Given the description of an element on the screen output the (x, y) to click on. 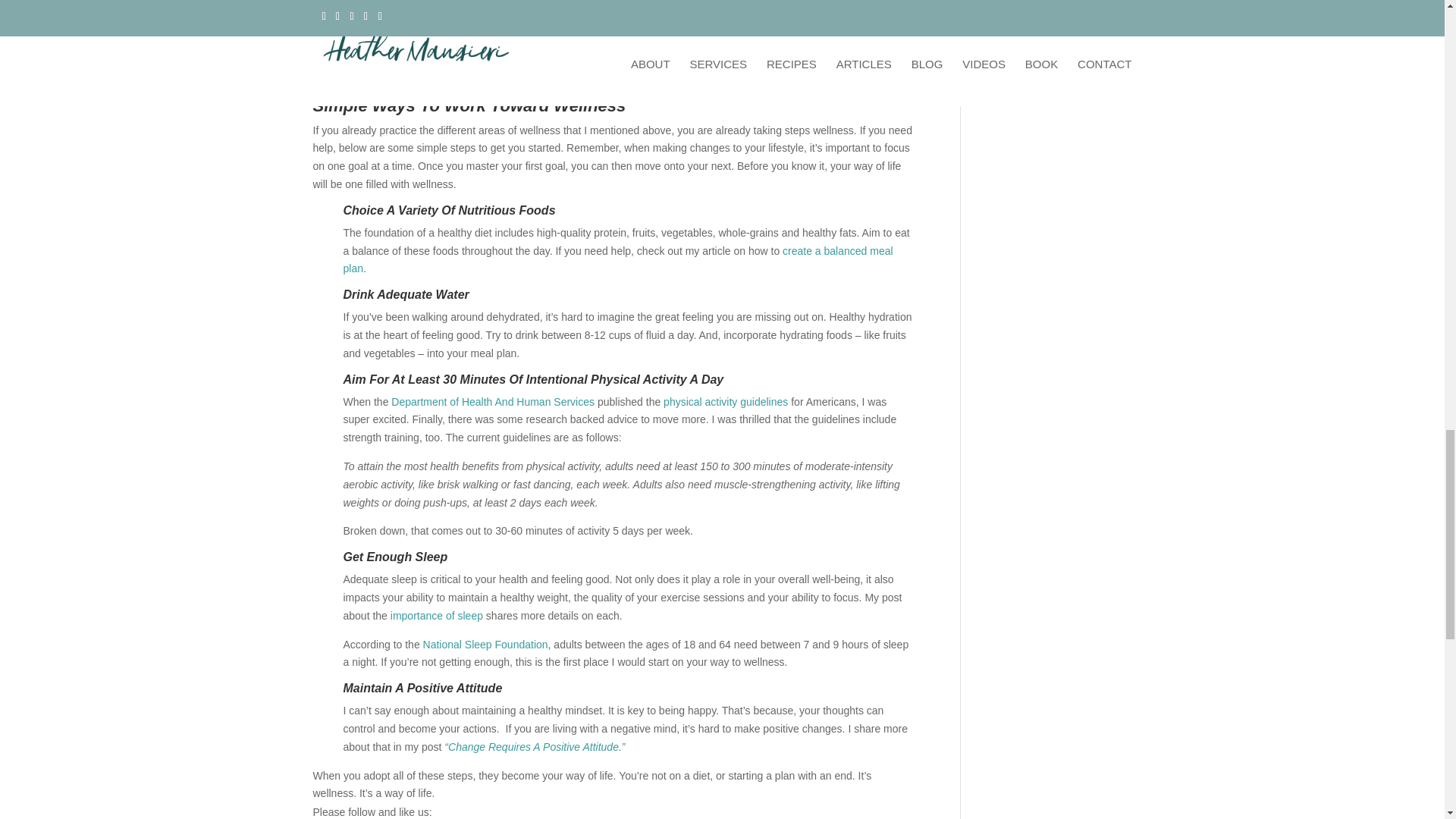
Department of Health And Human Services (492, 401)
National Sleep Foundation (485, 644)
importance of sleep (436, 615)
create a balanced meal plan (617, 259)
physical activity guidelines (725, 401)
